Given the description of an element on the screen output the (x, y) to click on. 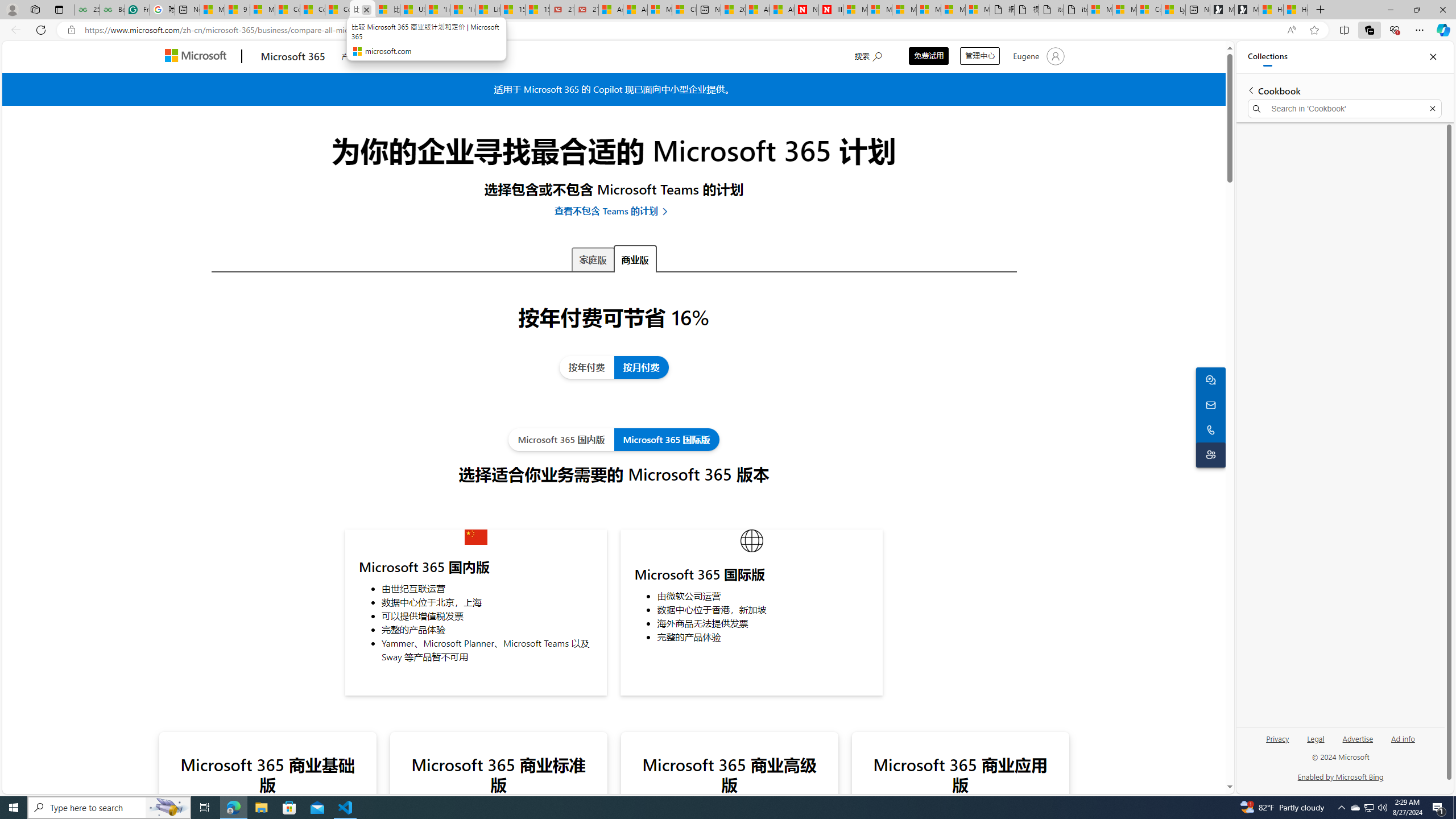
Consumer Health Data Privacy Policy (1148, 9)
Back to list of collections (1250, 90)
Lifestyle - MSN (487, 9)
Free AI Writing Assistance for Students | Grammarly (136, 9)
itconcepthk.com/projector_solutions.mp4 (1075, 9)
